Given the description of an element on the screen output the (x, y) to click on. 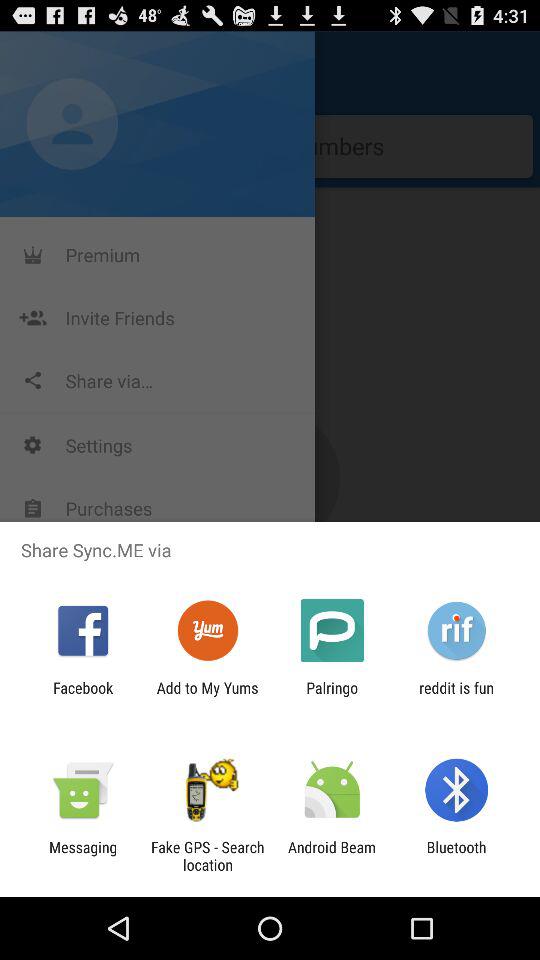
launch icon to the left of the add to my app (83, 696)
